Given the description of an element on the screen output the (x, y) to click on. 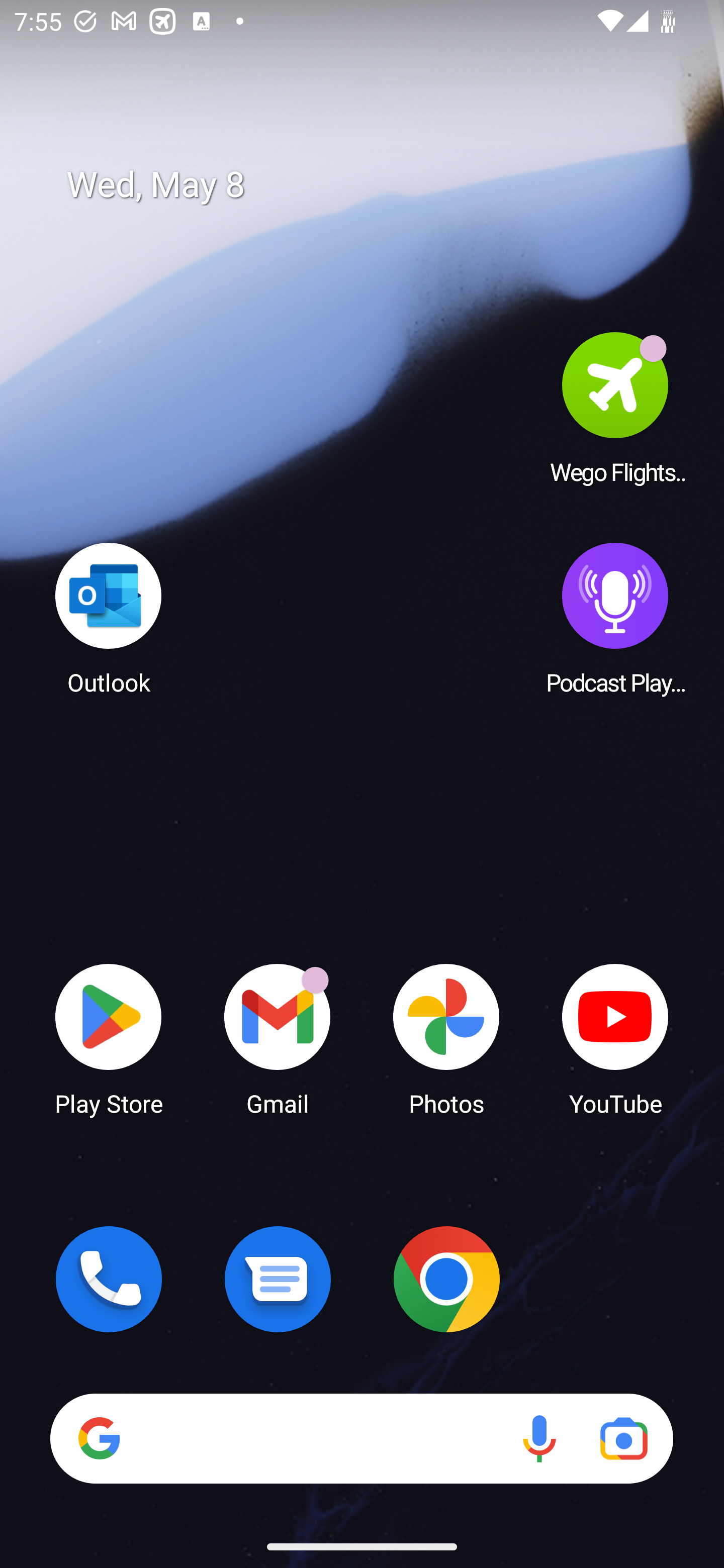
Wed, May 8 (375, 184)
Outlook (108, 617)
Podcast Player (615, 617)
Play Store (108, 1038)
Gmail Gmail has 17 notifications (277, 1038)
Photos (445, 1038)
YouTube (615, 1038)
Phone (108, 1279)
Messages (277, 1279)
Chrome (446, 1279)
Voice search (539, 1438)
Google Lens (623, 1438)
